Given the description of an element on the screen output the (x, y) to click on. 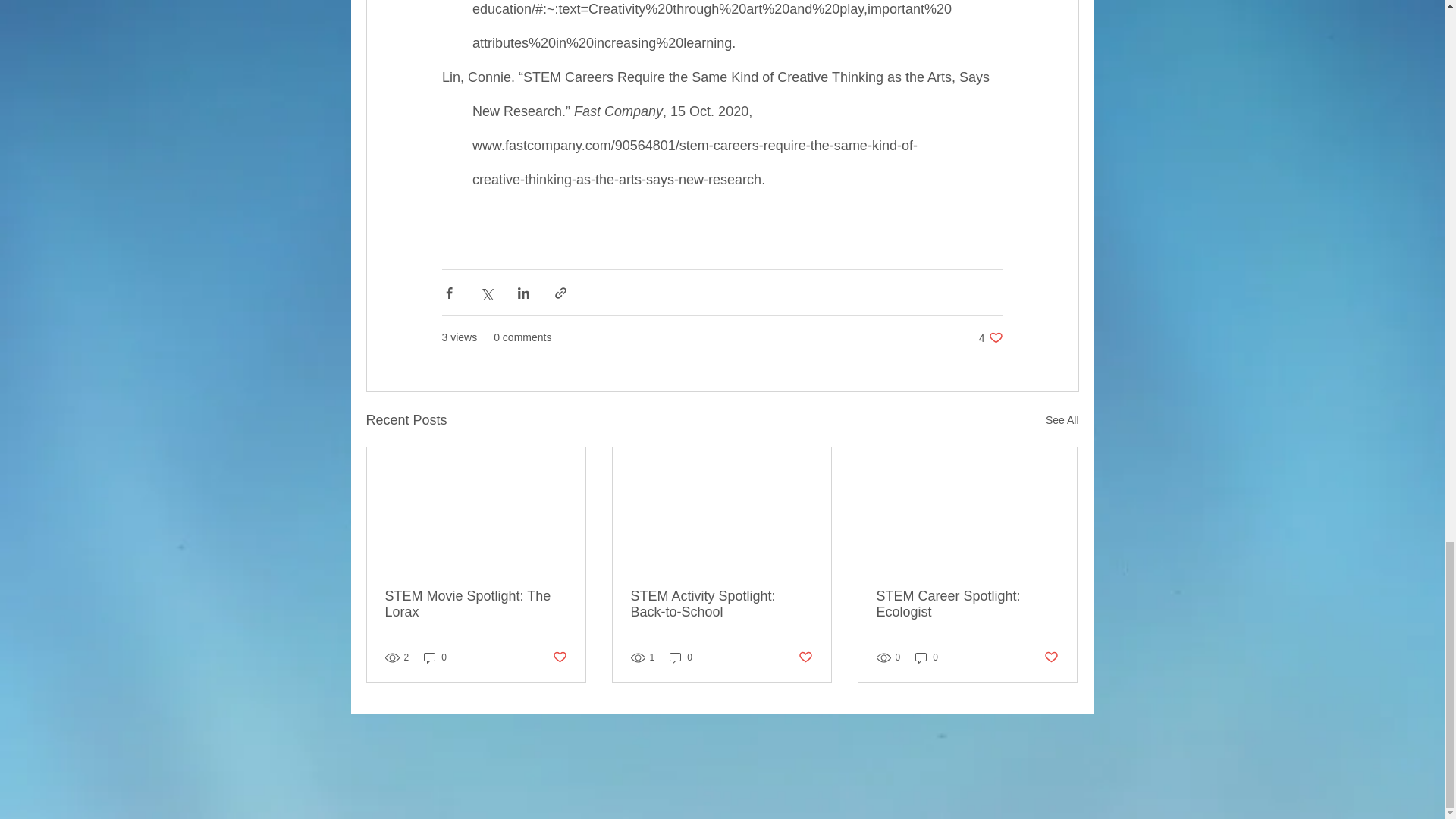
STEM Movie Spotlight: The Lorax (476, 603)
0 (681, 657)
0 (926, 657)
Post not marked as liked (804, 657)
STEM Activity Spotlight: Back-to-School (990, 337)
0 (721, 603)
STEM Career Spotlight: Ecologist (435, 657)
Post not marked as liked (967, 603)
See All (558, 657)
